Given the description of an element on the screen output the (x, y) to click on. 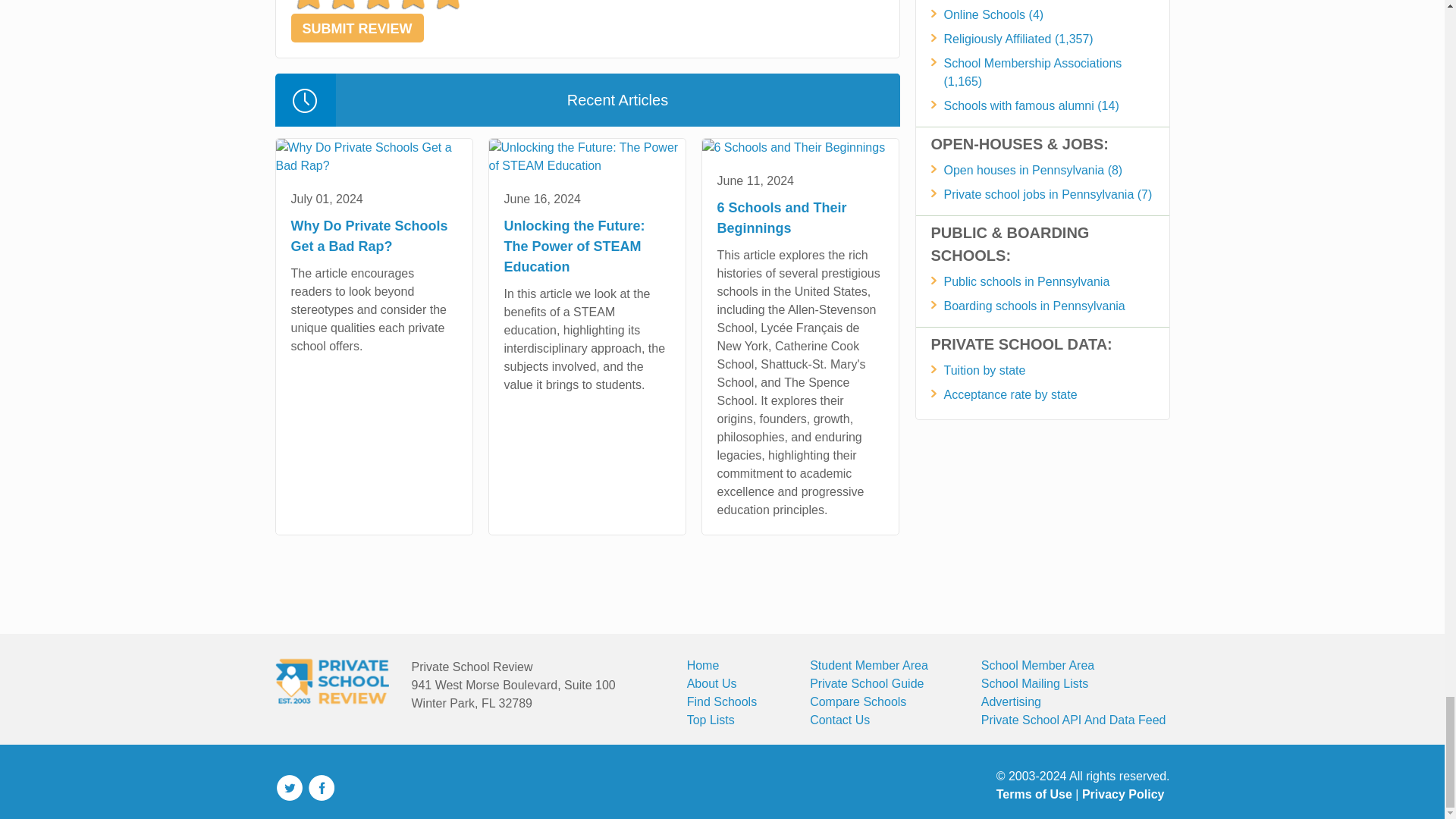
SUBMIT REVIEW (357, 27)
6 Schools and Their Beginnings (799, 147)
Why Do Private Schools Get a Bad Rap? (373, 156)
6 Schools and Their Beginnings (793, 147)
Unlocking the Future: The Power of STEAM Education (585, 156)
